Given the description of an element on the screen output the (x, y) to click on. 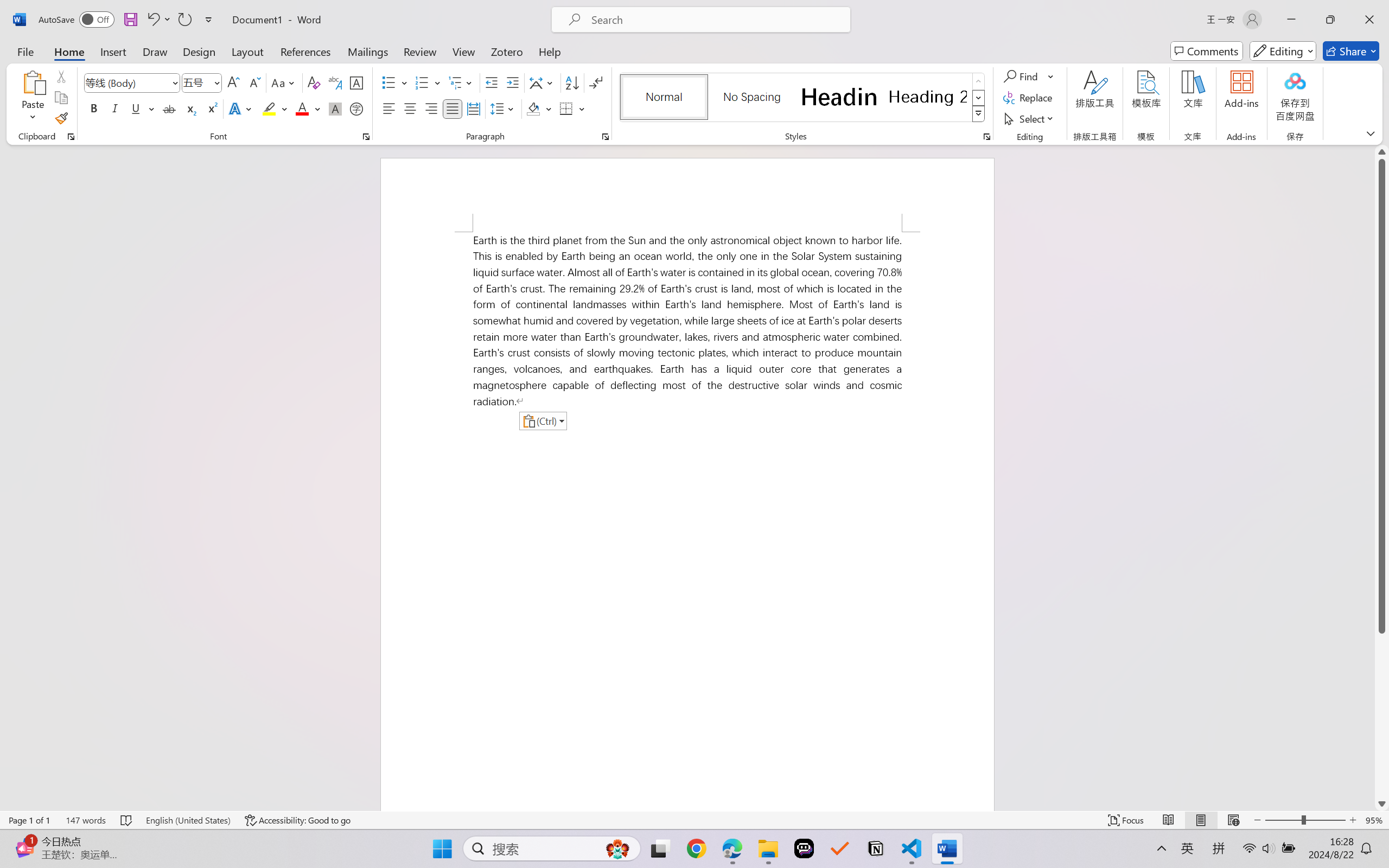
Distributed (473, 108)
Align Right (431, 108)
Clear Formatting (313, 82)
Open (215, 82)
Microsoft search (715, 19)
Align Left (388, 108)
